Given the description of an element on the screen output the (x, y) to click on. 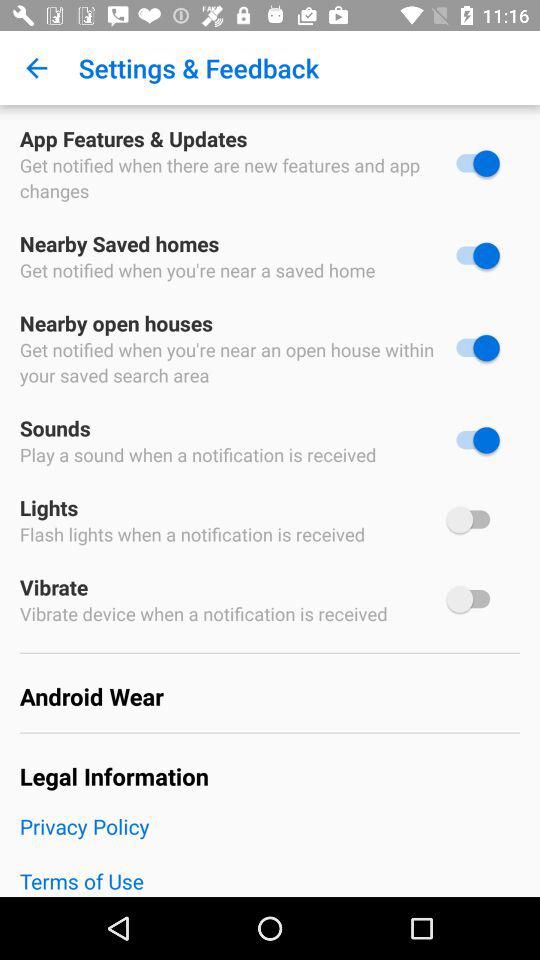
sounds toggle switch (473, 440)
